Given the description of an element on the screen output the (x, y) to click on. 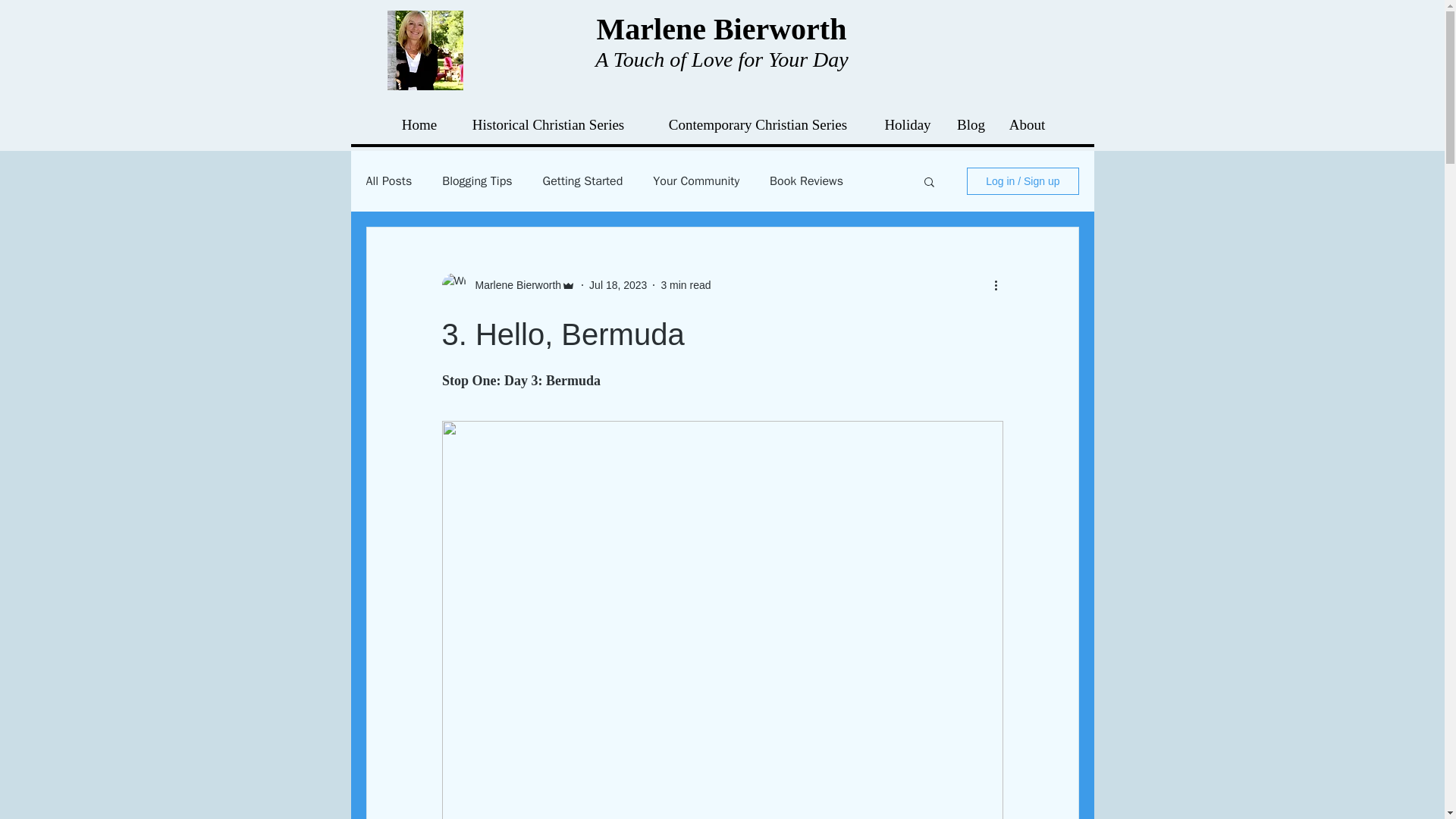
Blog (969, 125)
Blogging Tips (477, 180)
Book Reviews (806, 180)
Your Community (695, 180)
Marlene Bierworth (512, 285)
About (1026, 125)
Getting Started (583, 180)
Home (418, 125)
All Posts (388, 180)
Jul 18, 2023 (617, 285)
3 min read (685, 285)
